Given the description of an element on the screen output the (x, y) to click on. 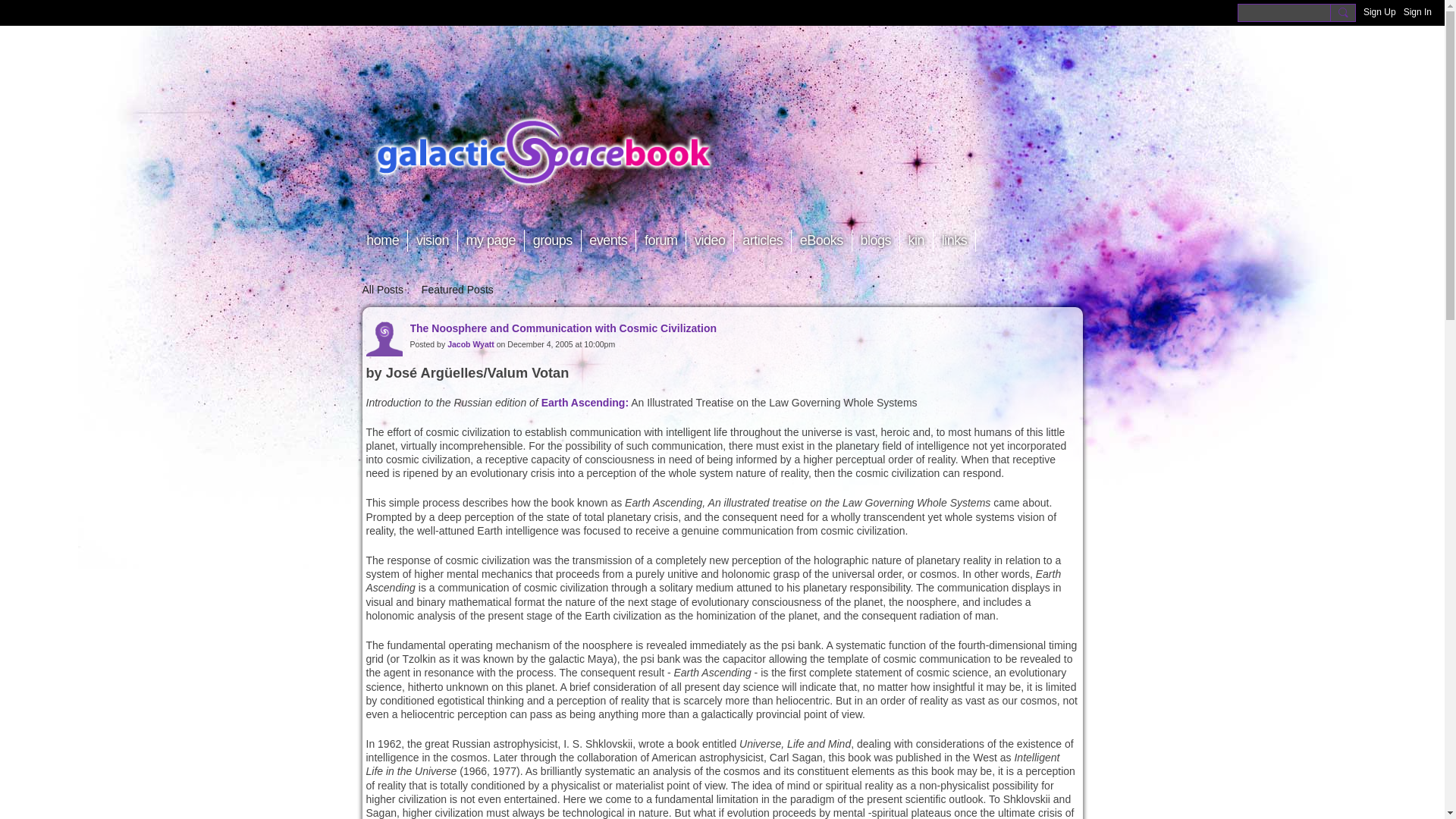
Sign In (1417, 12)
groups (552, 240)
eBooks (821, 240)
home (382, 240)
Sign Up (1379, 12)
kin (916, 240)
my page (491, 240)
video (709, 240)
vision (432, 240)
articles (762, 240)
forum (660, 240)
blogs (875, 240)
events (608, 240)
